Given the description of an element on the screen output the (x, y) to click on. 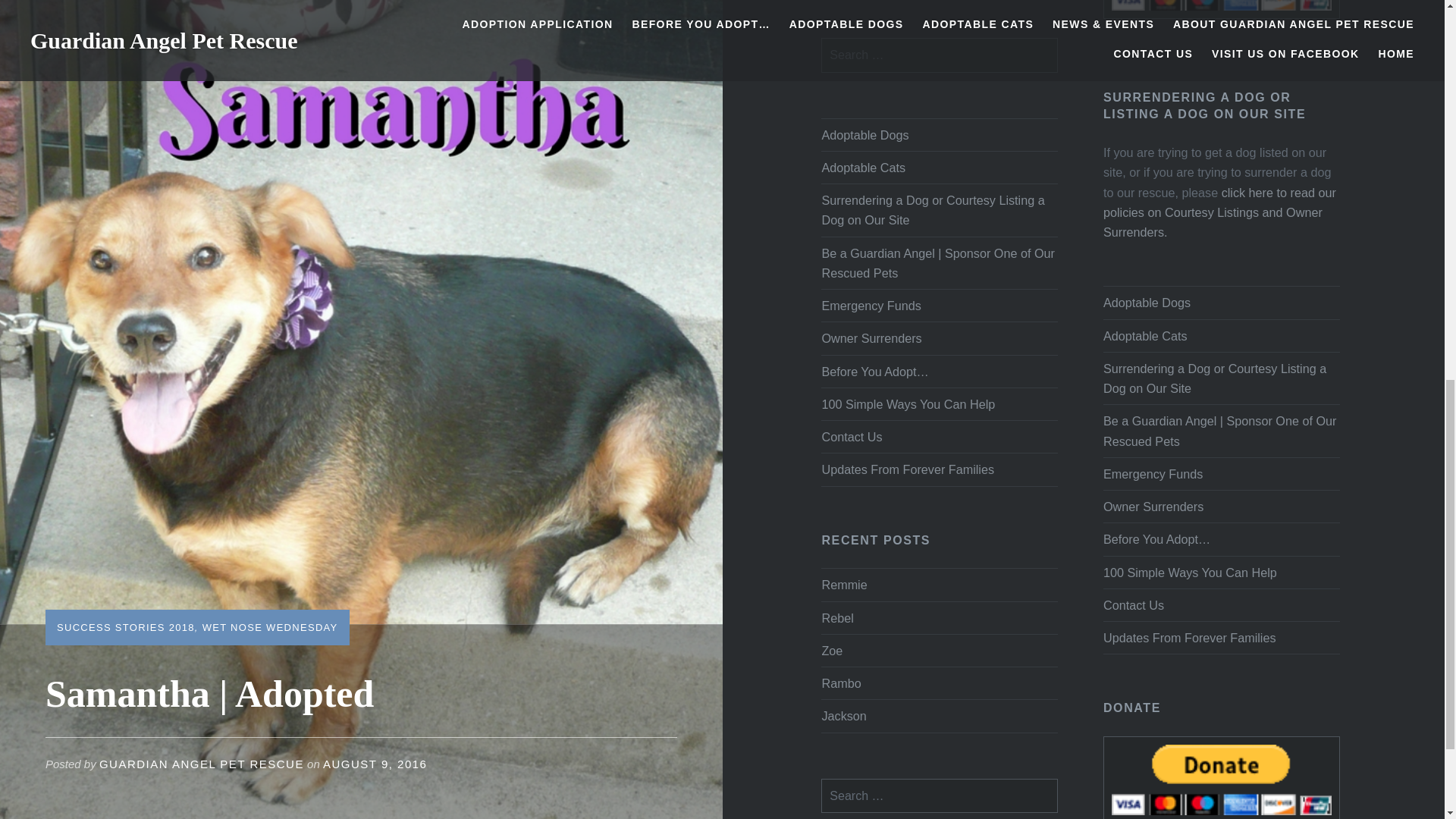
Emergency Funds (939, 305)
Emergency Funds (1221, 473)
Adoptable Cats (939, 167)
Adoptable Cats (1221, 336)
100 Simple Ways You Can Help (1221, 572)
Owner Surrenders (1221, 506)
100 Simple Ways You Can Help (939, 404)
Surrendering a Dog or Courtesy Listing a Dog on Our Site (939, 209)
Contact Us (939, 436)
Contact Us (1221, 604)
Owner Surrenders (939, 337)
Adoptable Dogs (939, 134)
Surrendering a Dog or Courtesy Listing a Dog on Our Site (1221, 378)
Updates From Forever Families (939, 469)
